Given the description of an element on the screen output the (x, y) to click on. 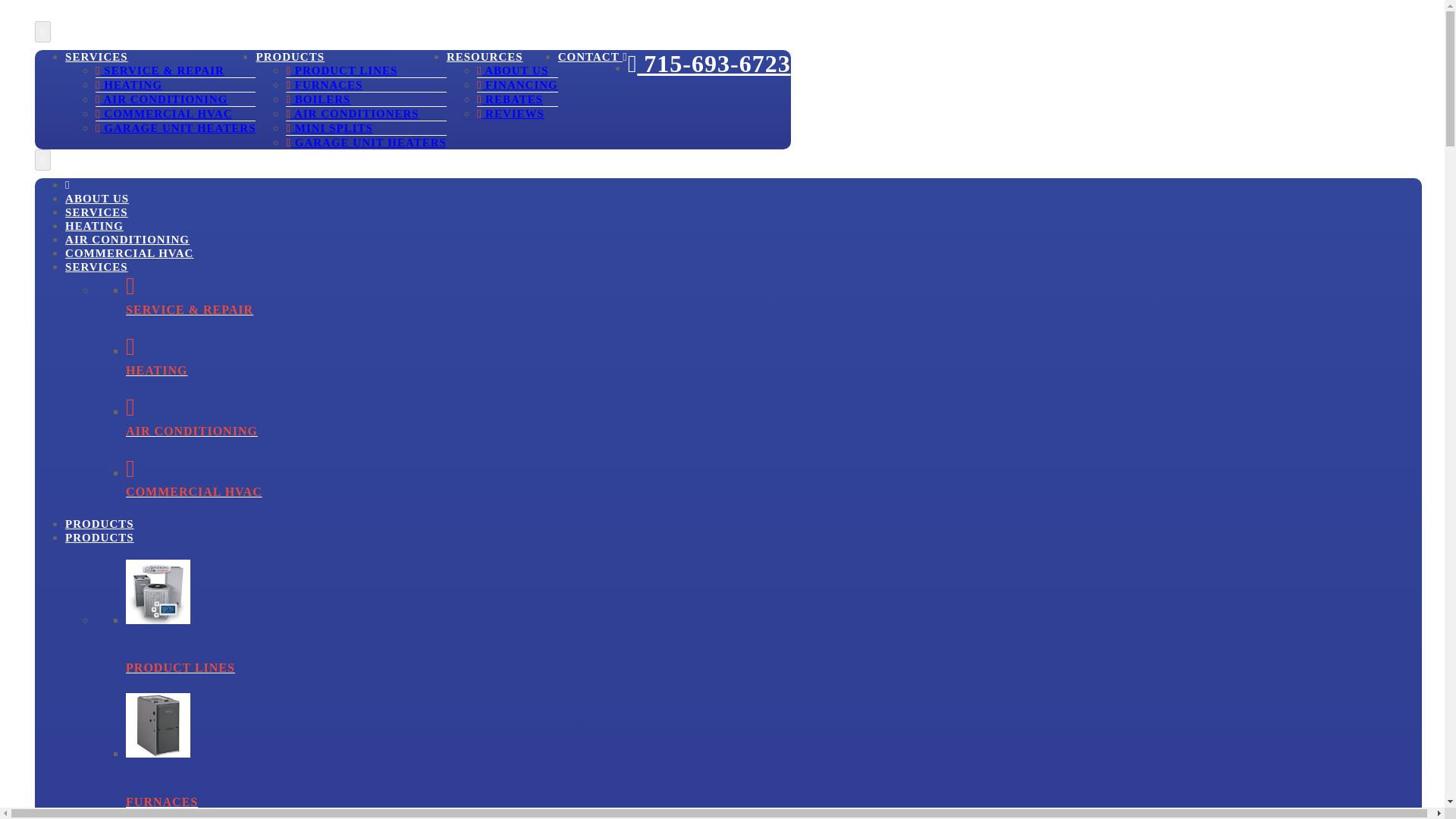
ABOUT US (97, 198)
COMMERCIAL HVAC (164, 113)
GARAGE UNIT HEATERS (365, 142)
PRODUCTS (99, 523)
FINANCING (517, 84)
AIR CONDITIONING (773, 417)
FURNACES (323, 84)
HEATING (94, 225)
BOILERS (317, 99)
